Given the description of an element on the screen output the (x, y) to click on. 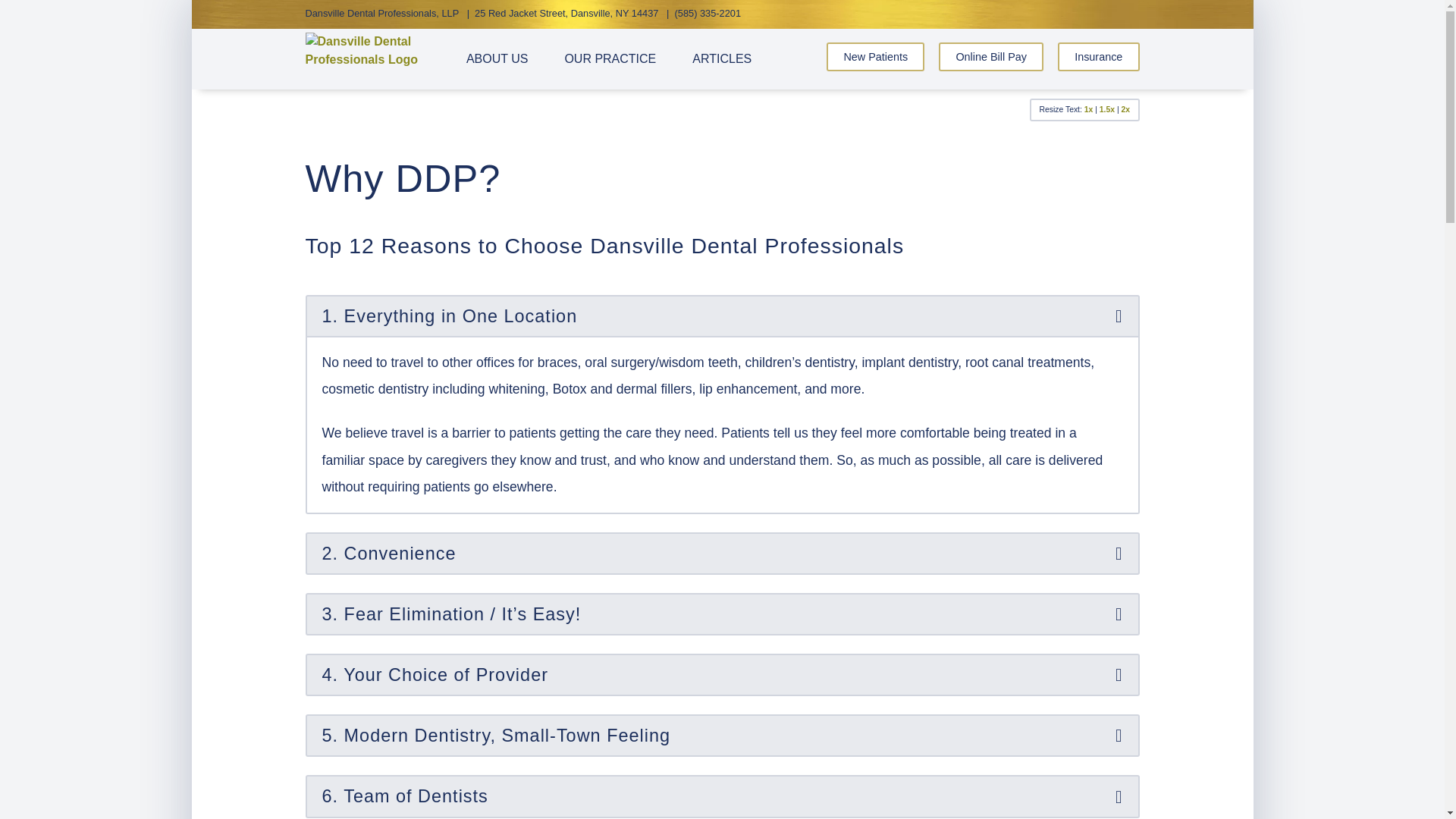
OUR PRACTICE (609, 58)
ABOUT US (497, 58)
